Given the description of an element on the screen output the (x, y) to click on. 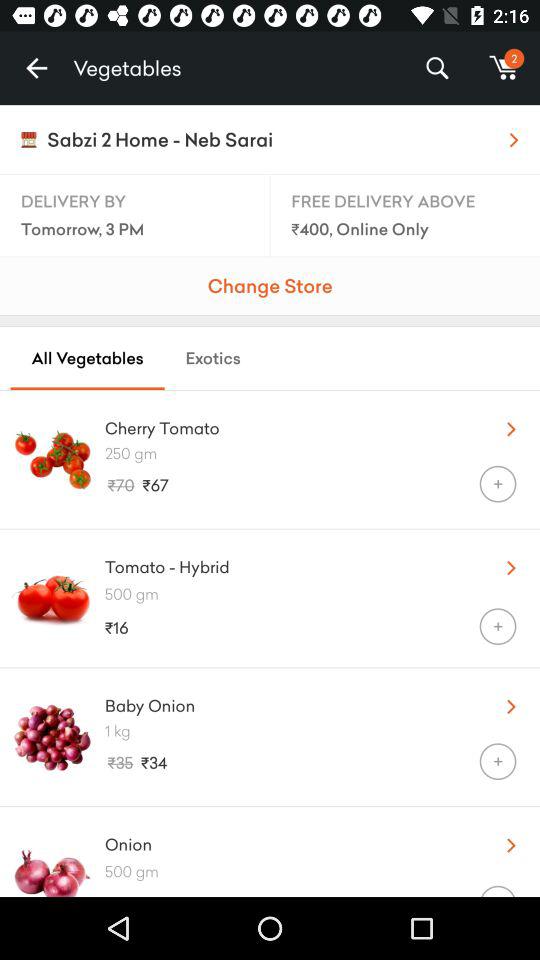
click % item (436, 67)
